Given the description of an element on the screen output the (x, y) to click on. 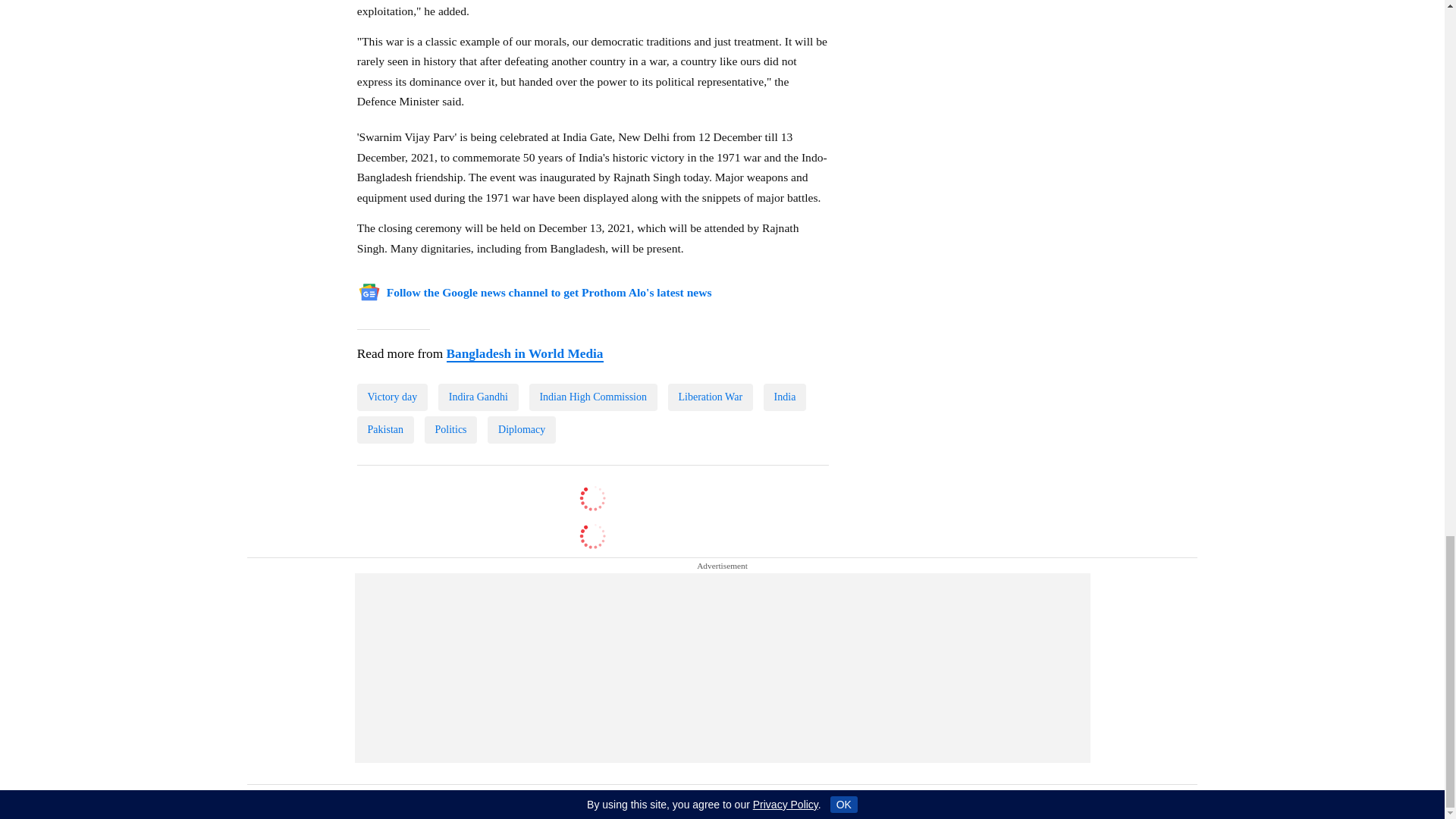
Victory day (392, 340)
Indian High Commission (593, 340)
Indira Gandhi (478, 340)
Bangladesh in World Media (523, 297)
